Given the description of an element on the screen output the (x, y) to click on. 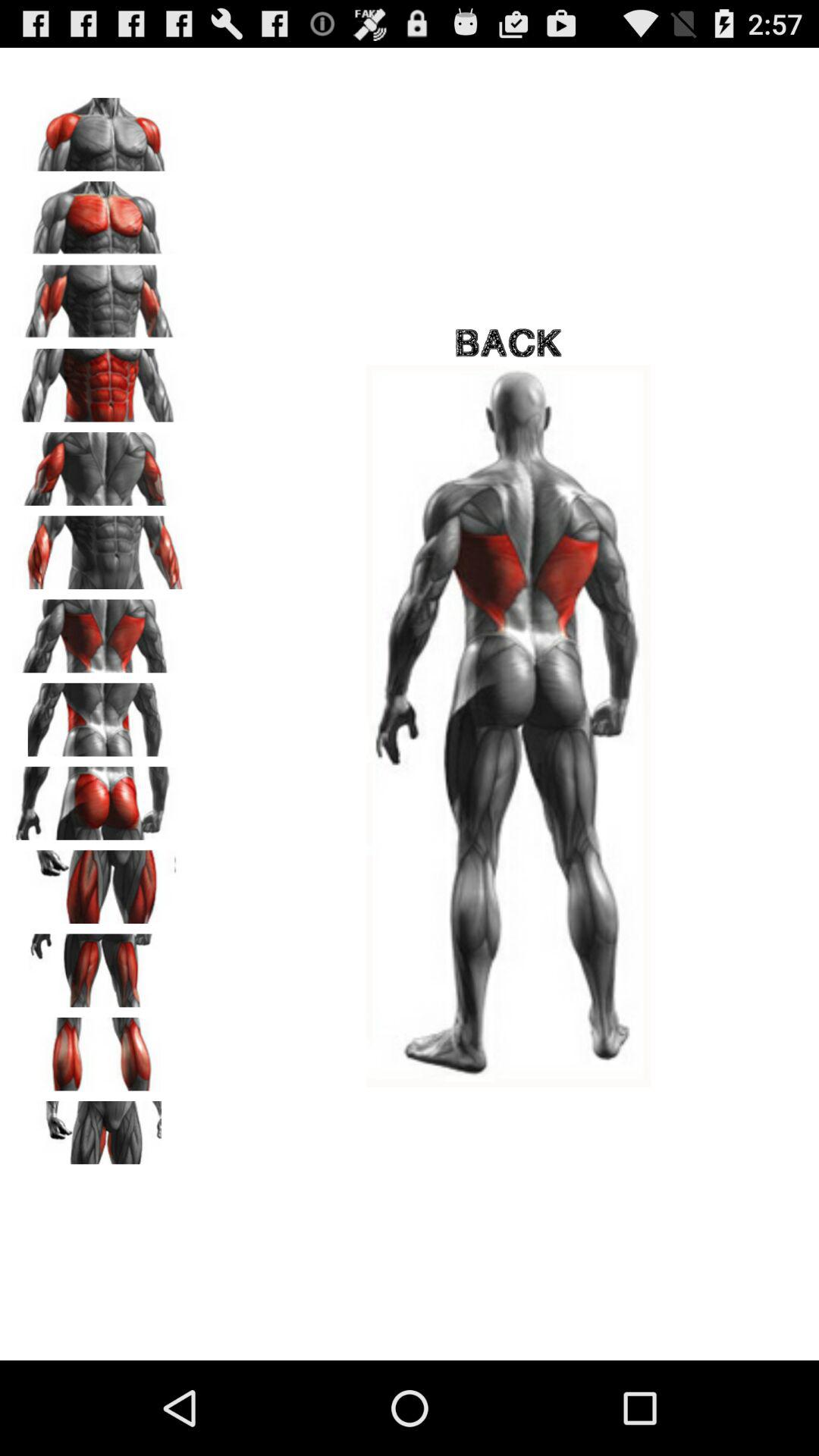
select a different area (99, 212)
